Given the description of an element on the screen output the (x, y) to click on. 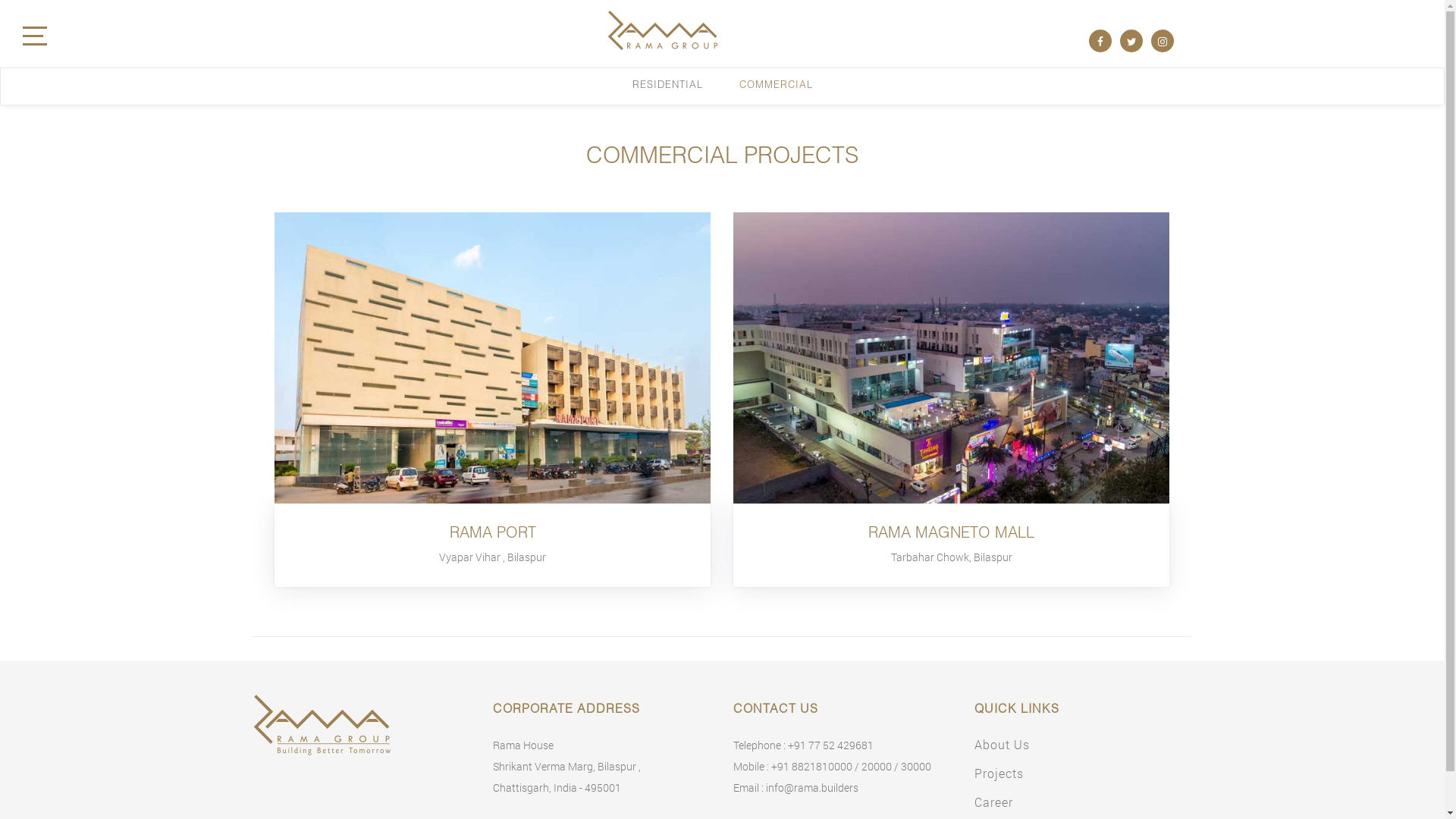
COMMERCIAL Element type: text (775, 86)
Career Element type: text (993, 802)
About Us Element type: text (1001, 744)
RESIDENTIAL Element type: text (667, 86)
RAMA GROUP Element type: text (309, 79)
Projects Element type: text (998, 773)
